Given the description of an element on the screen output the (x, y) to click on. 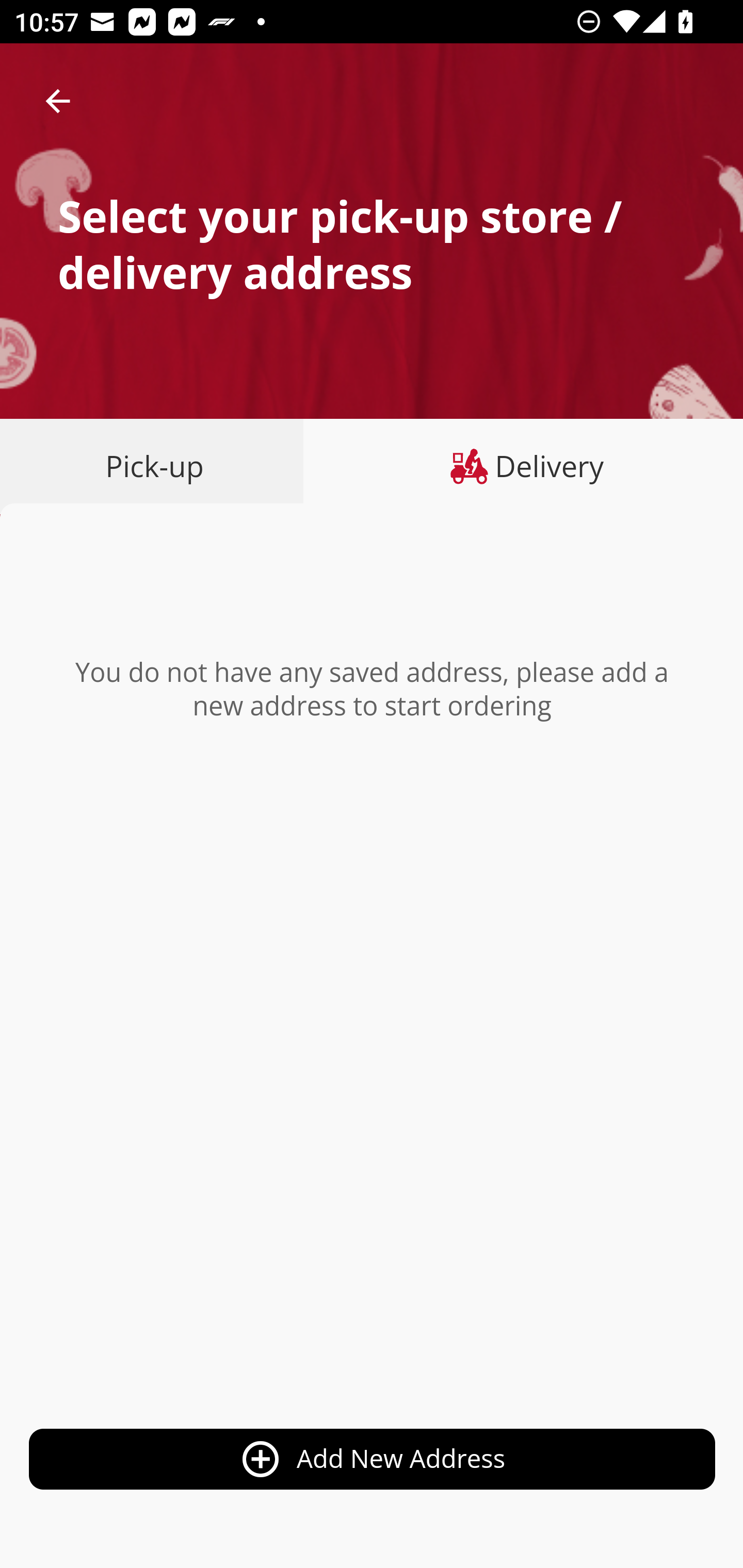
arrow_back (58, 100)
Pick-up (157, 466)
Delivery (523, 466)
add_circle_outline Add New Address (372, 1459)
